Given the description of an element on the screen output the (x, y) to click on. 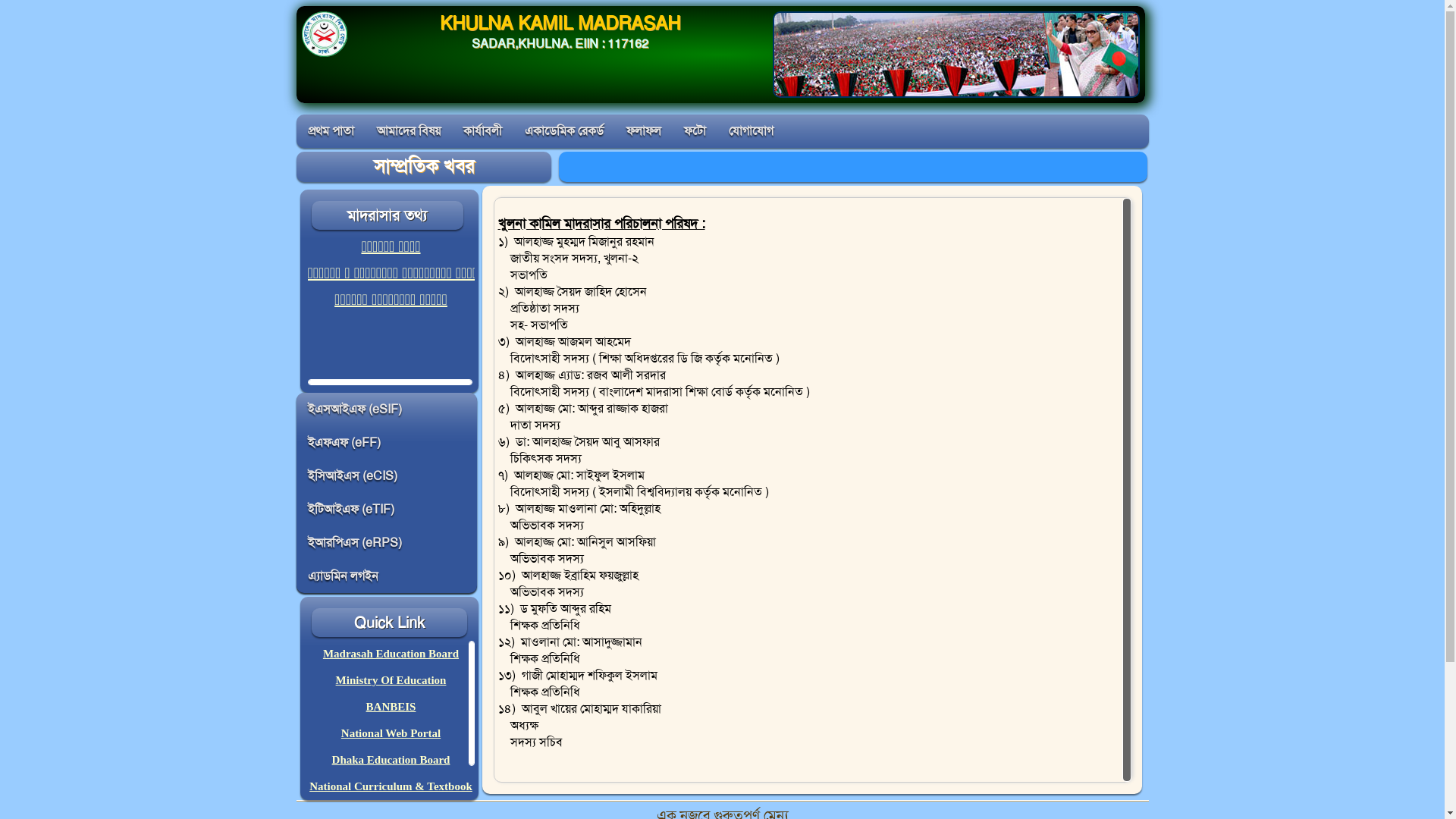
Madrasah Education Board Element type: text (390, 653)
Dhaka Education Board Element type: text (391, 759)
BANBEIS Element type: text (391, 706)
National Web Portal Element type: text (390, 733)
National Curriculum & Textbook Element type: text (390, 786)
Ministry Of Education Element type: text (390, 680)
